Given the description of an element on the screen output the (x, y) to click on. 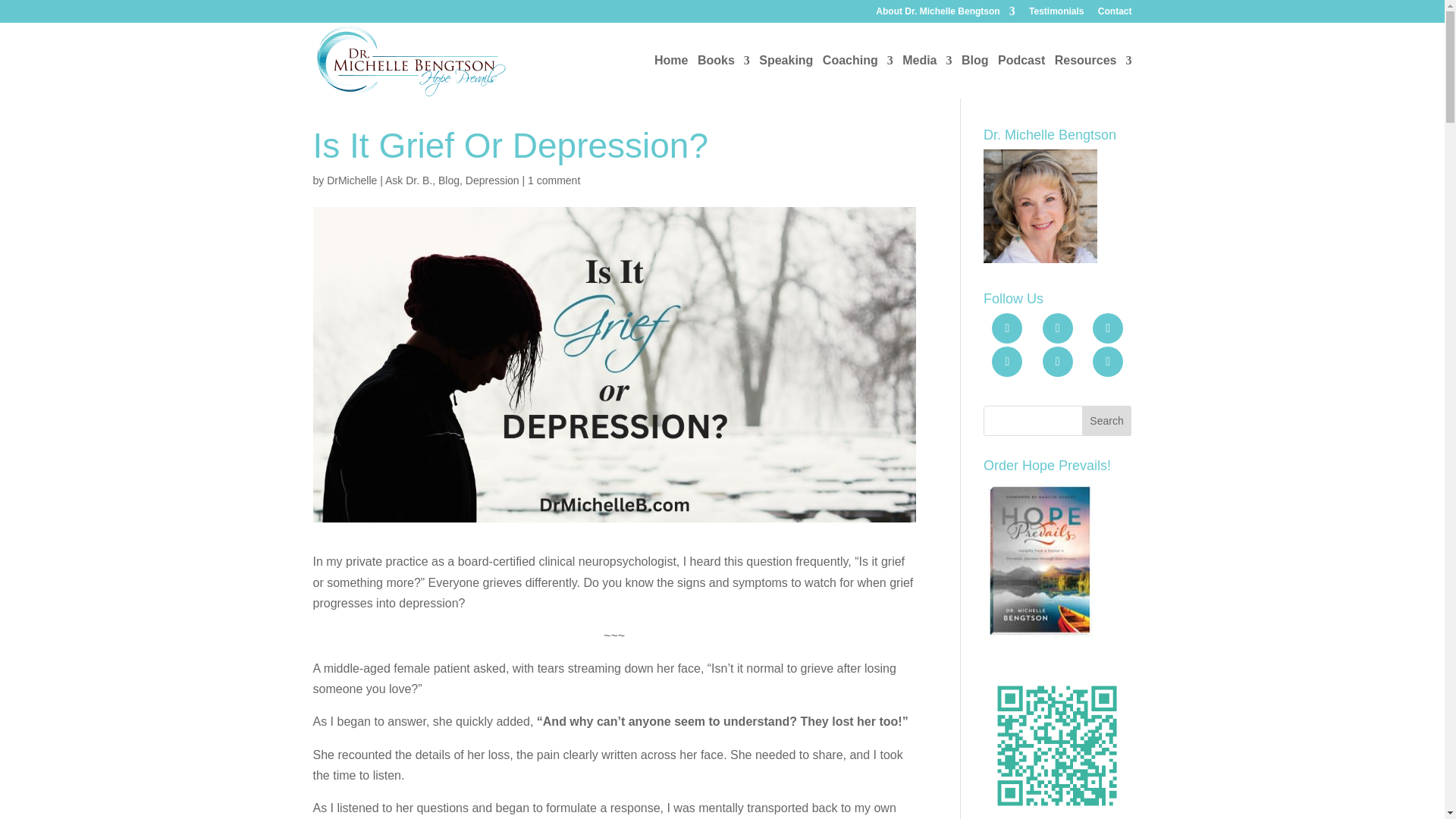
Speaking (785, 76)
Search (1106, 420)
Contact (1114, 14)
Posts by DrMichelle (351, 180)
Resources (1093, 76)
Podcast (1021, 76)
Media (927, 76)
About Dr. Michelle Bengtson (945, 14)
Coaching (857, 76)
Testimonials (1056, 14)
